Given the description of an element on the screen output the (x, y) to click on. 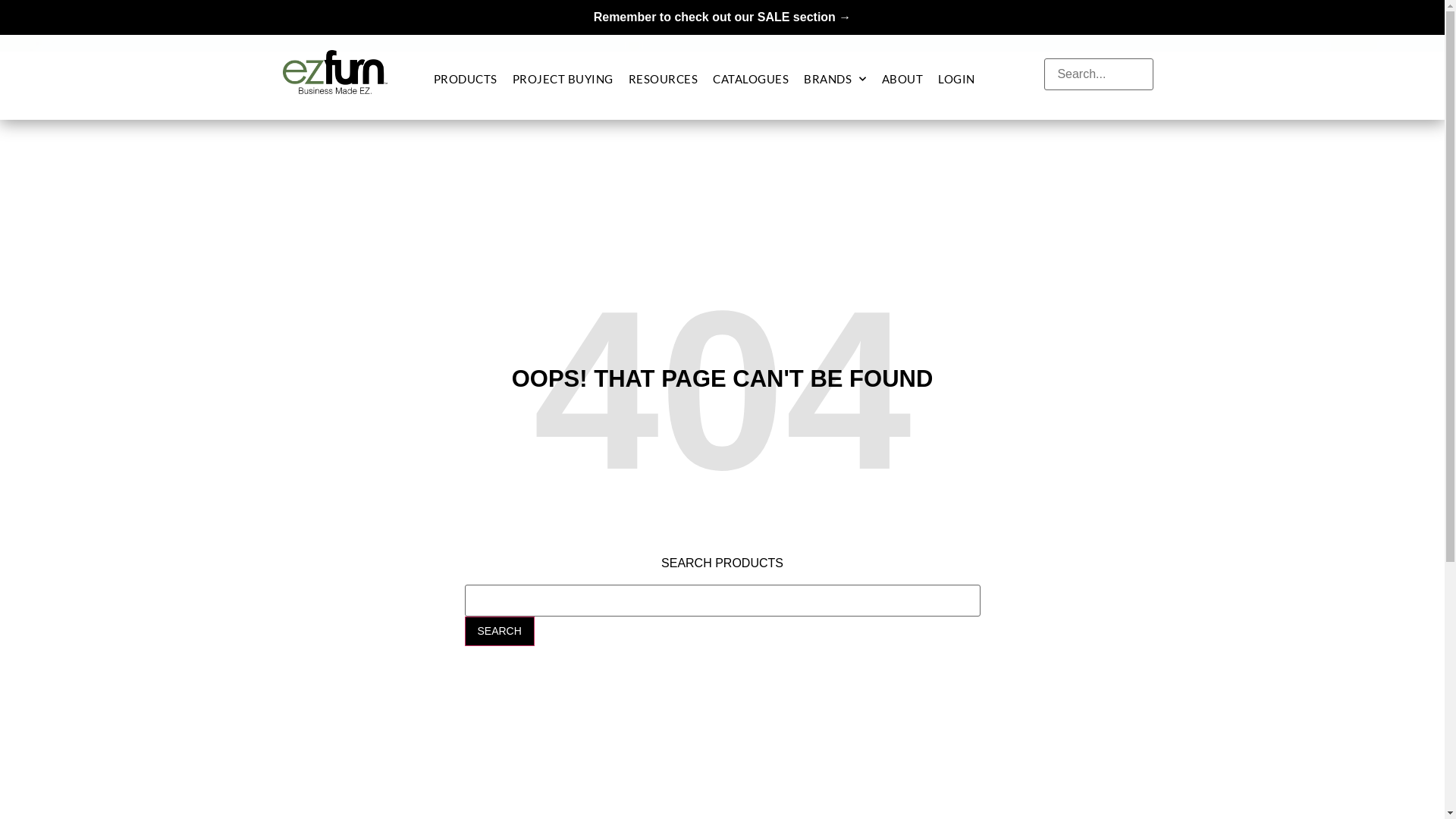
ABOUT Element type: text (902, 78)
PROJECT BUYING Element type: text (562, 78)
BRANDS Element type: text (834, 78)
SEARCH Element type: text (498, 630)
PRODUCTS Element type: text (465, 78)
RESOURCES Element type: text (663, 78)
CATALOGUES Element type: text (750, 78)
LOGIN Element type: text (956, 78)
